Given the description of an element on the screen output the (x, y) to click on. 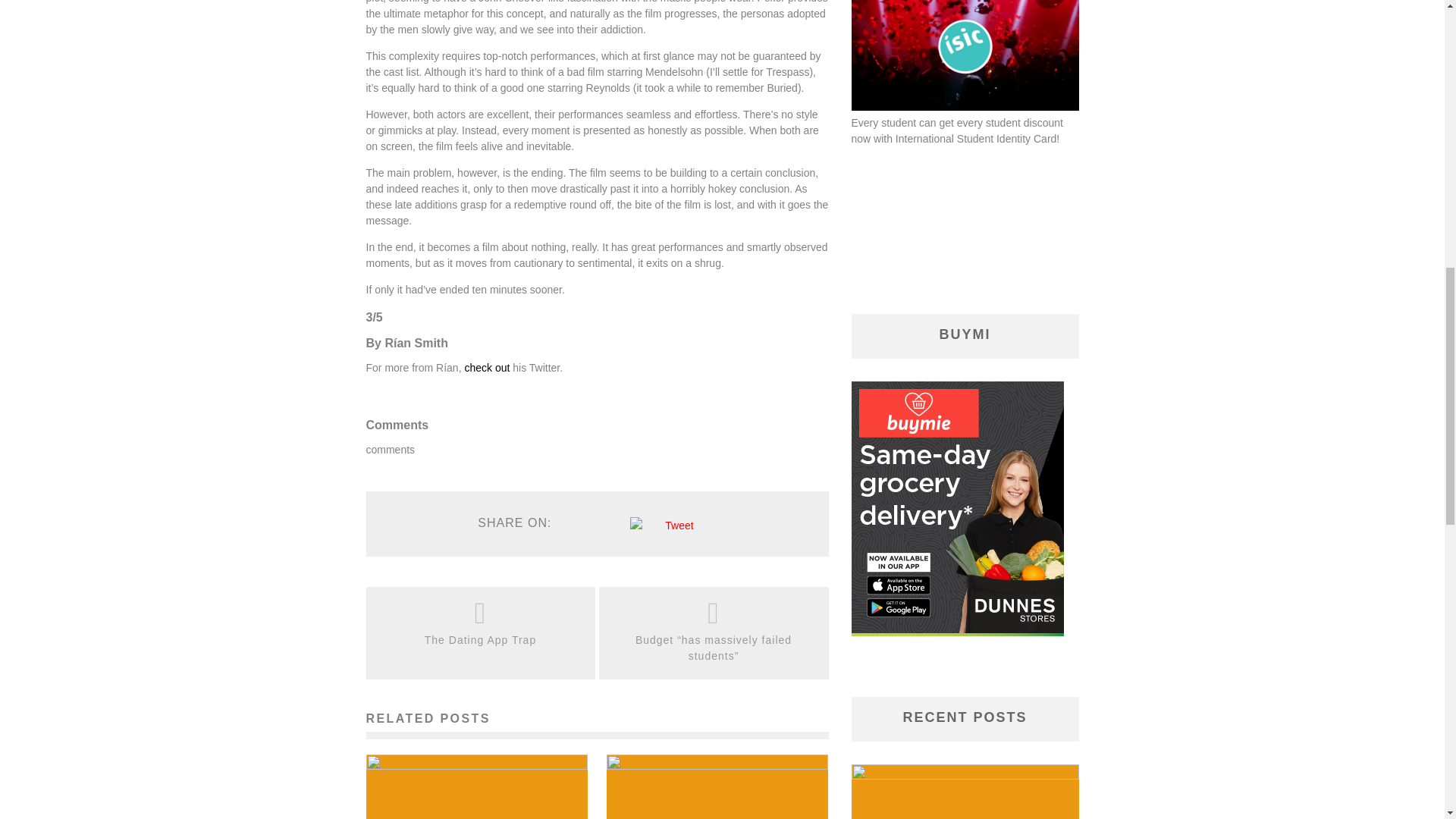
Oxygen.ie Sponsored by ISIC Ireland (964, 106)
Buymi (956, 632)
